Given the description of an element on the screen output the (x, y) to click on. 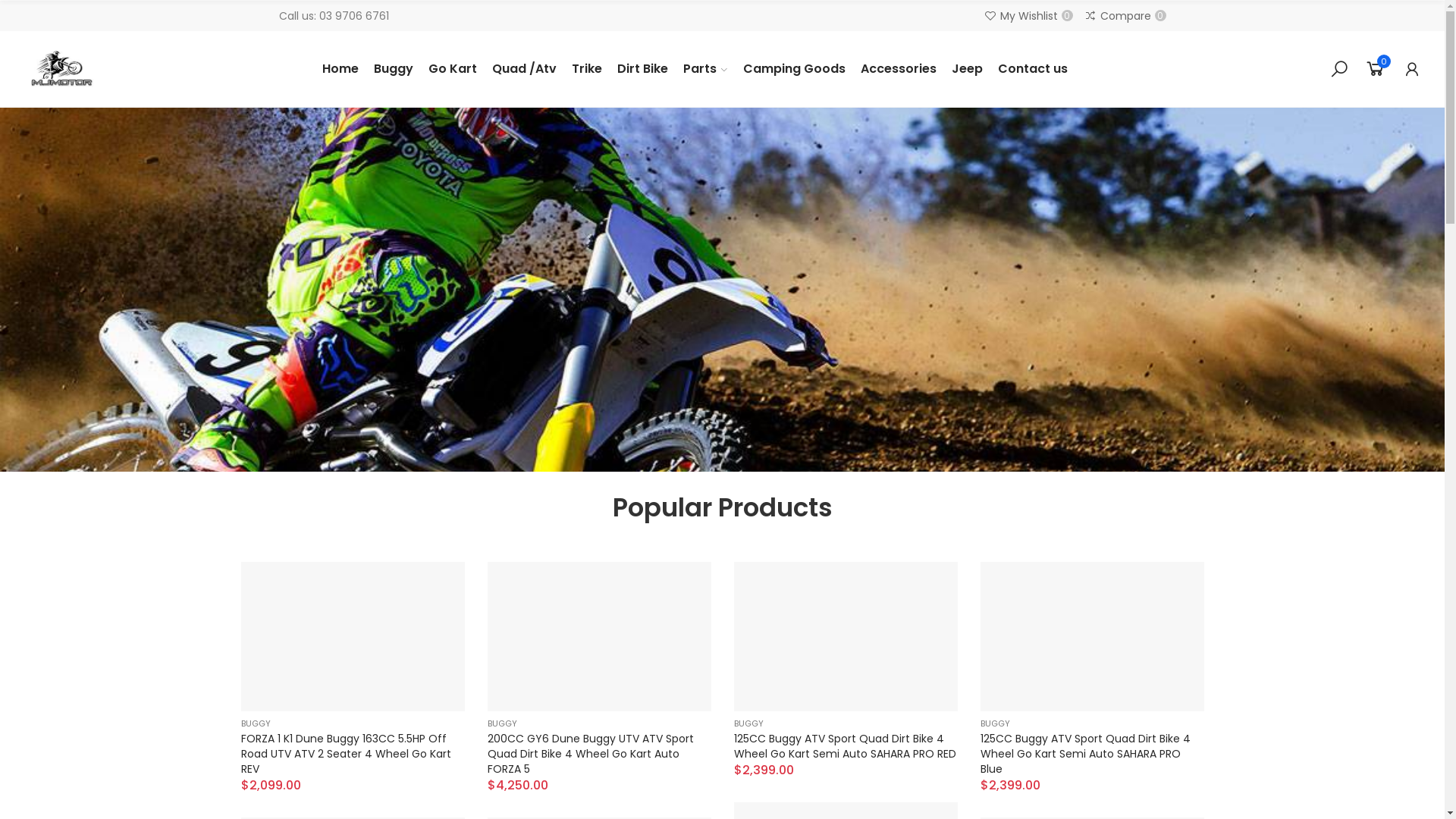
BUGGY Element type: text (501, 723)
Trike Element type: text (586, 68)
Search Element type: hover (1339, 68)
My Account Element type: hover (1411, 68)
Jeep Element type: text (966, 68)
Contact us Element type: text (1031, 68)
My Wishlist
0 Element type: text (1028, 15)
Go Kart Element type: text (452, 68)
BUGGY Element type: text (255, 723)
BUGGY Element type: text (748, 723)
Camping Goods Element type: text (793, 68)
0 Element type: text (1375, 68)
Compare
0 Element type: text (1125, 15)
Dirt Bike Element type: text (641, 68)
Quad /Atv Element type: text (524, 68)
Accessories Element type: text (898, 68)
Parts Element type: text (705, 68)
BUGGY Element type: text (994, 723)
Home Element type: text (340, 68)
Buggy Element type: text (393, 68)
